Given the description of an element on the screen output the (x, y) to click on. 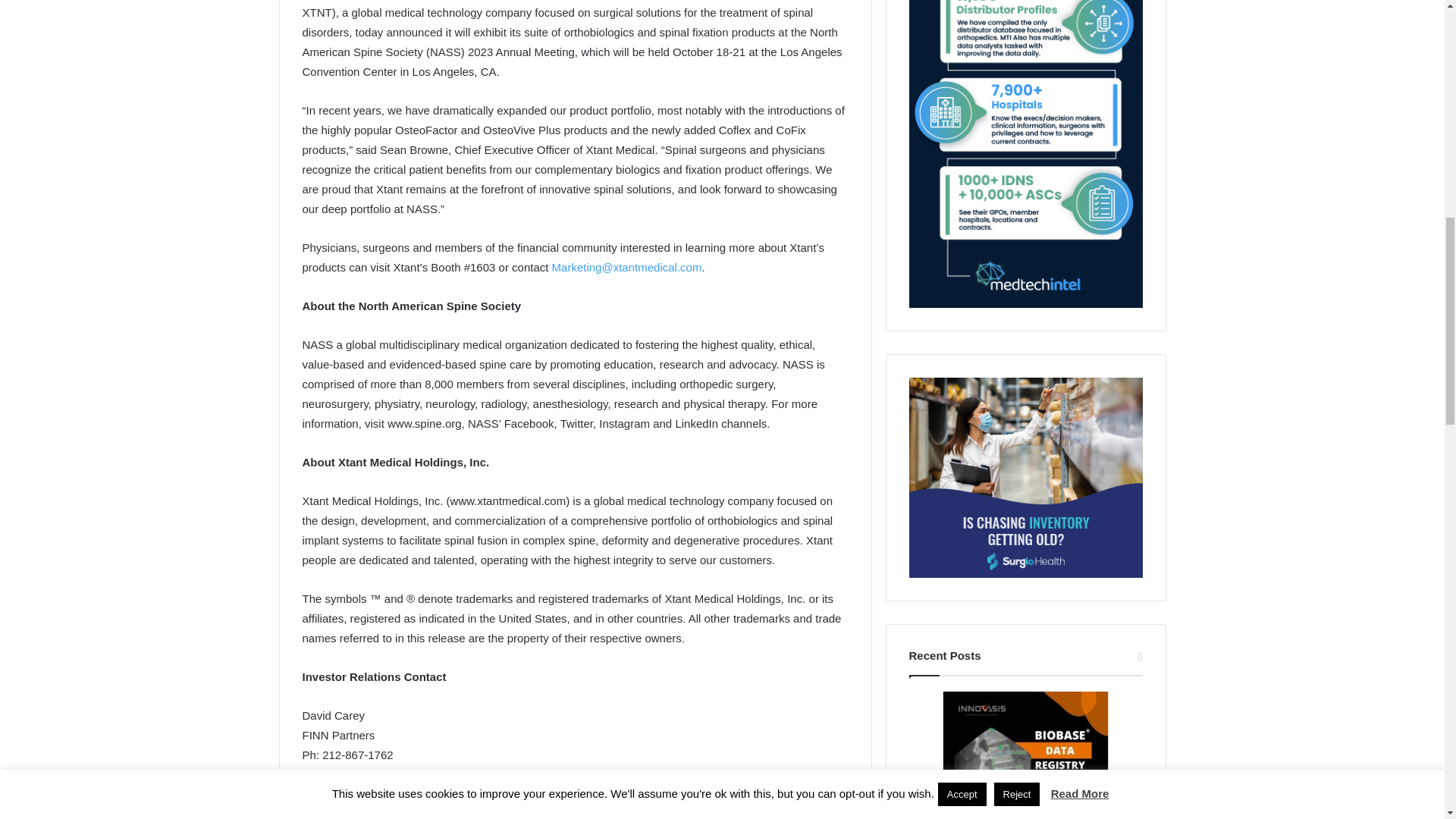
exhibit (393, 815)
product (751, 815)
portfolio (666, 815)
NASS (465, 815)
orthobiologics (562, 815)
